Given the description of an element on the screen output the (x, y) to click on. 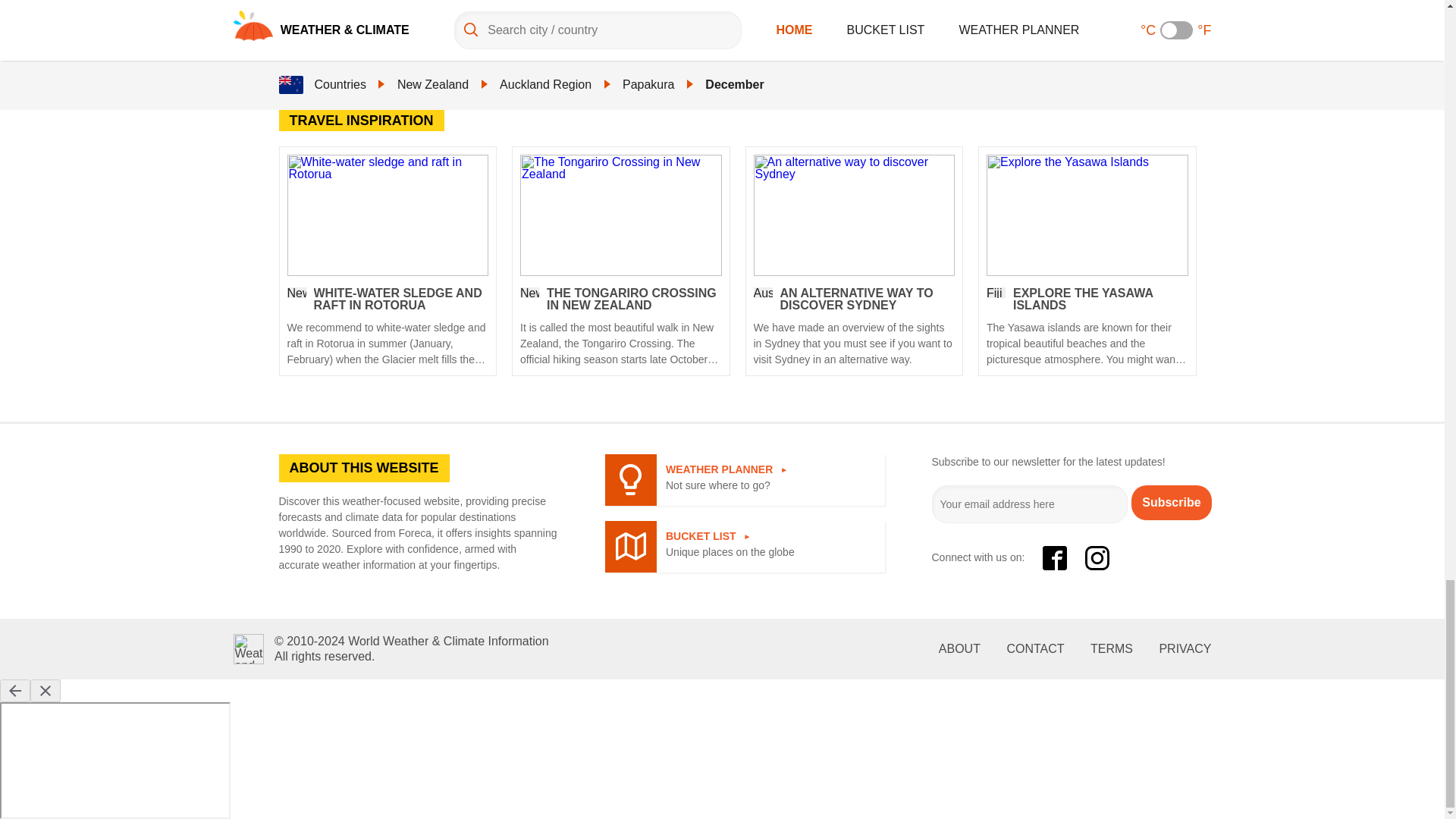
The Tongariro Crossing in New Zealand  (620, 214)
An alternative way to discover Sydney (854, 214)
Weather and climate homepage (247, 648)
Subscribe (1171, 501)
White-water sledge and raft in Rotorua (386, 327)
Explore the Yasawa Islands (1087, 327)
An alternative way to discover Sydney (854, 327)
White-water sledge and raft in Rotorua (386, 214)
Explore the Yasawa Islands (1087, 214)
The Tongariro Crossing in New Zealand  (620, 327)
